Given the description of an element on the screen output the (x, y) to click on. 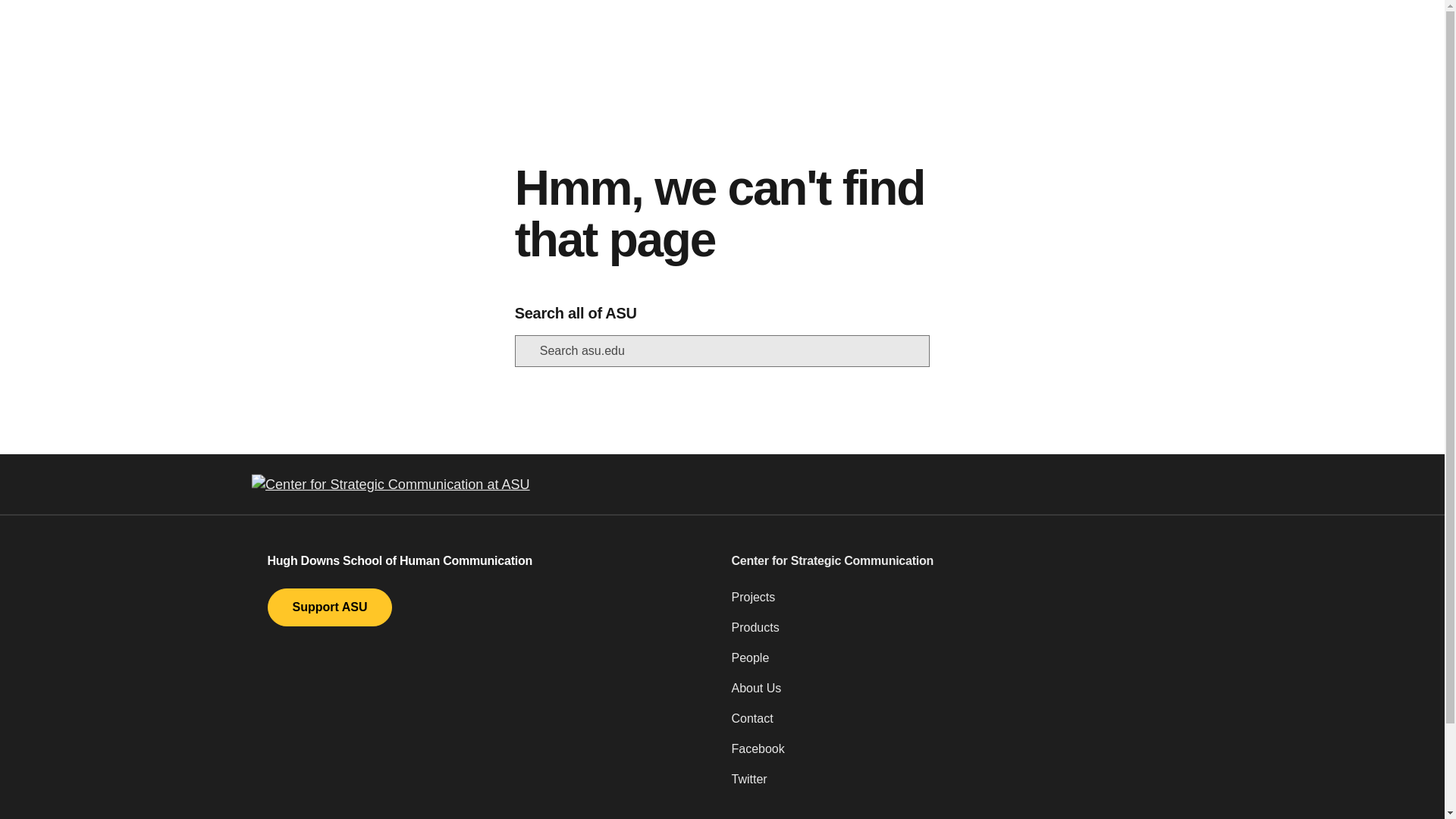
People (953, 664)
Products (953, 634)
Projects (953, 603)
Support ASU (328, 607)
Facebook (953, 755)
Center for Strategic Communication (953, 561)
About Us (953, 694)
Contact (953, 725)
Twitter (953, 785)
